Given the description of an element on the screen output the (x, y) to click on. 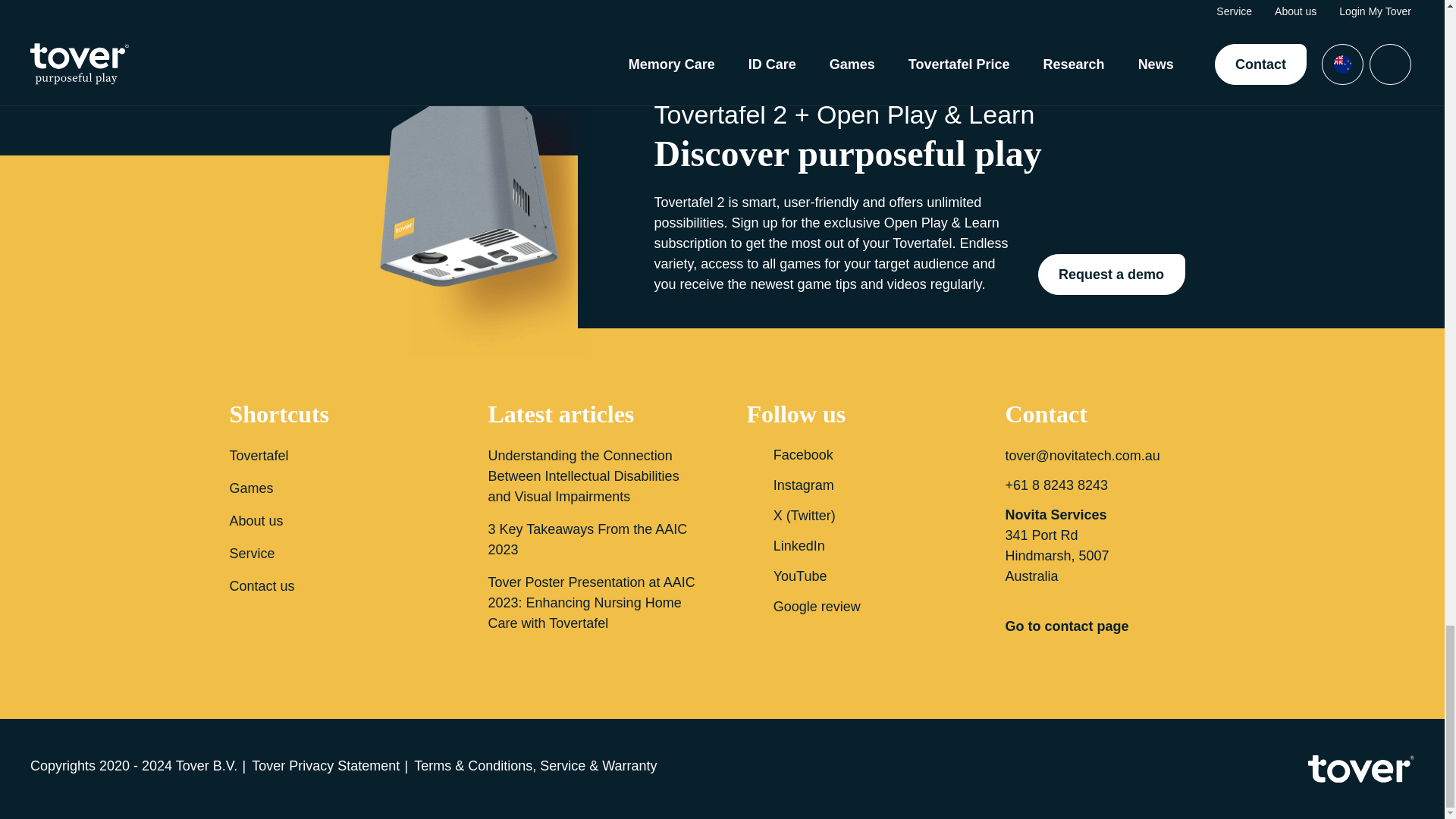
Facebook (850, 454)
LinkedIn (850, 546)
Xing (850, 606)
YouTube (850, 576)
X (850, 515)
Instagram (850, 484)
